Given the description of an element on the screen output the (x, y) to click on. 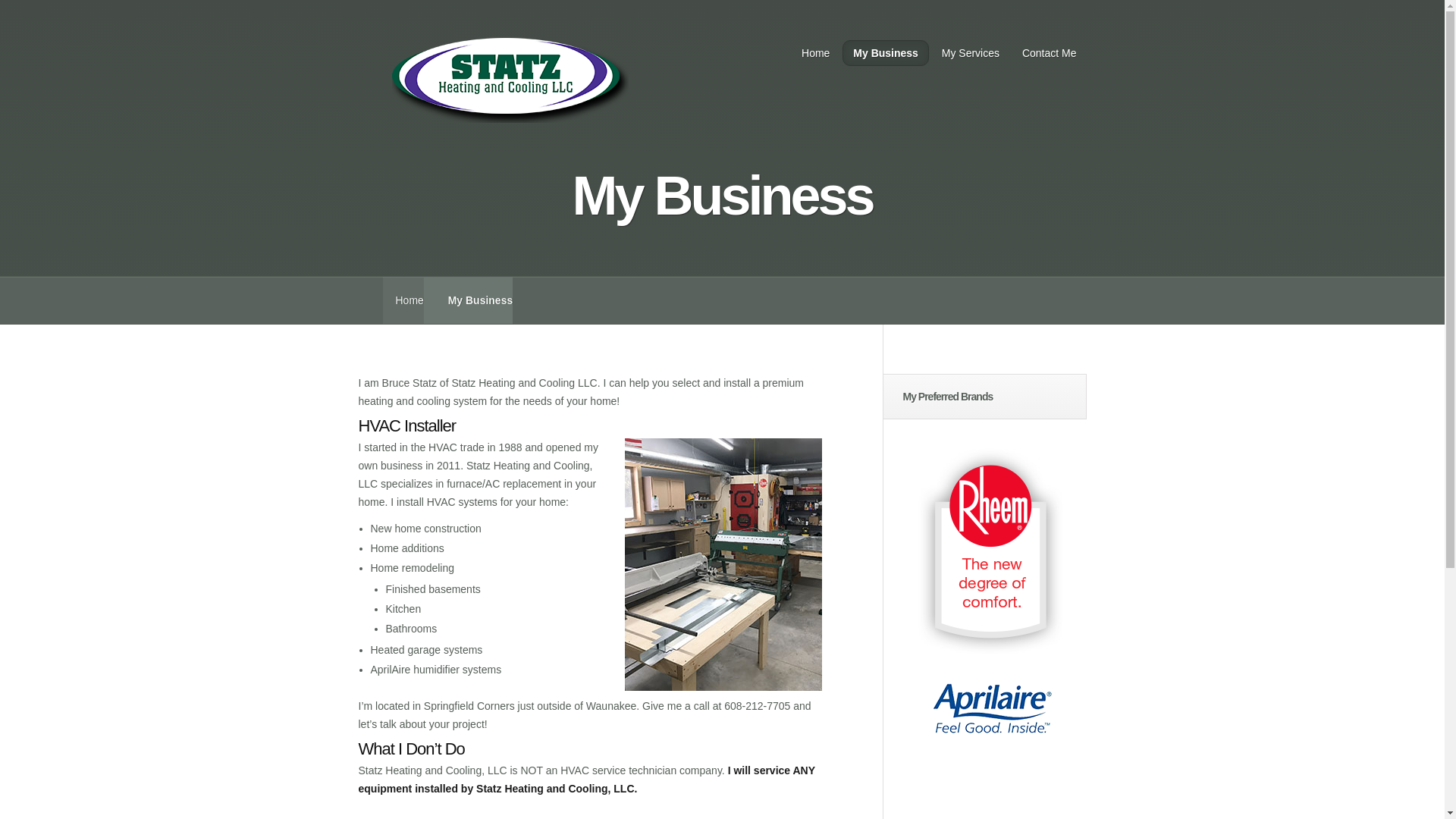
advertisement (991, 708)
My Services (970, 52)
Contact Me (1048, 52)
Home (816, 52)
My Business (885, 53)
